Given the description of an element on the screen output the (x, y) to click on. 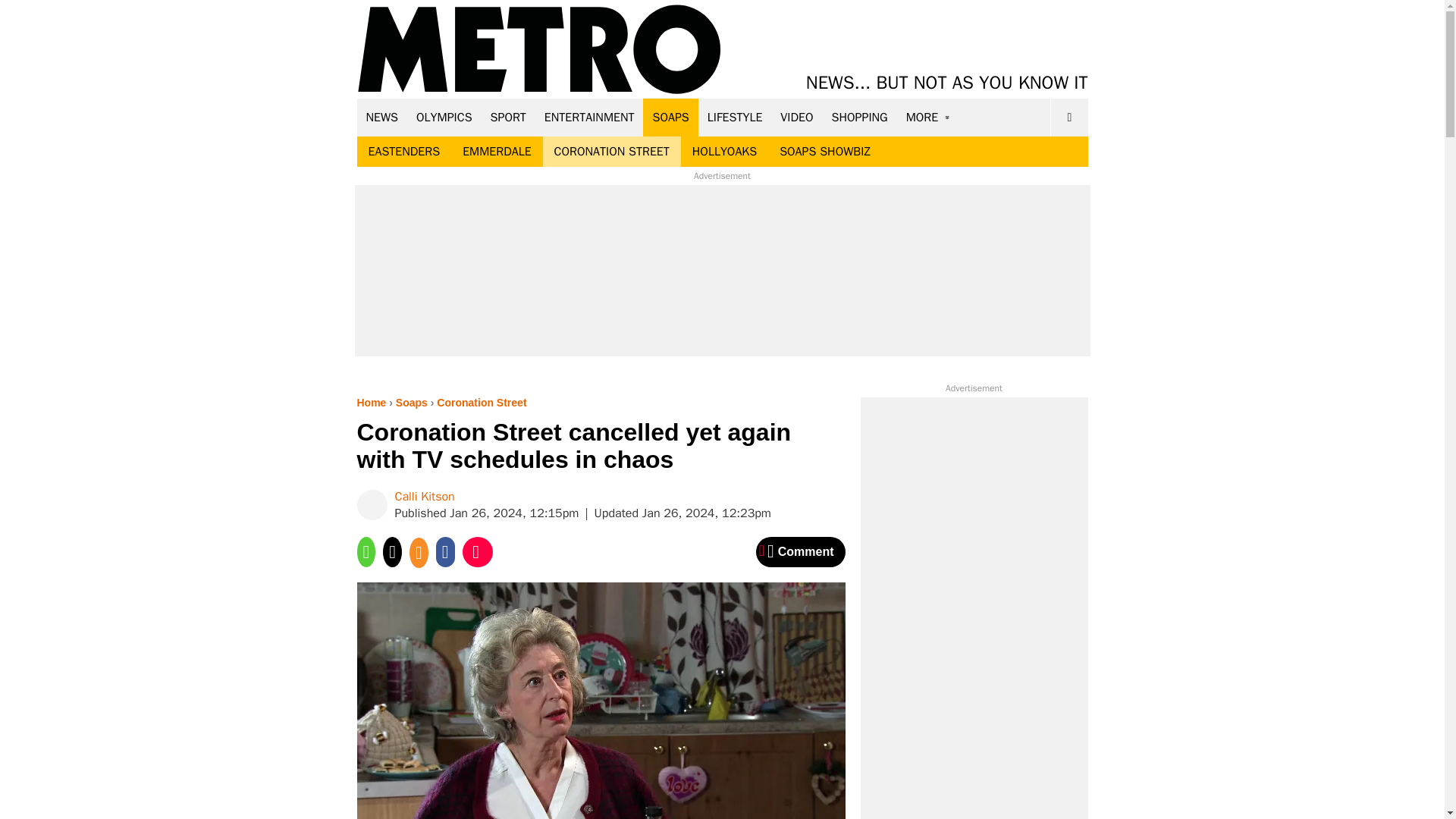
NEWS (381, 117)
OLYMPICS (444, 117)
CORONATION STREET (612, 151)
SOAPS SHOWBIZ (825, 151)
SOAPS (670, 117)
EMMERDALE (496, 151)
EASTENDERS (403, 151)
Metro (539, 50)
SPORT (508, 117)
HOLLYOAKS (724, 151)
